Given the description of an element on the screen output the (x, y) to click on. 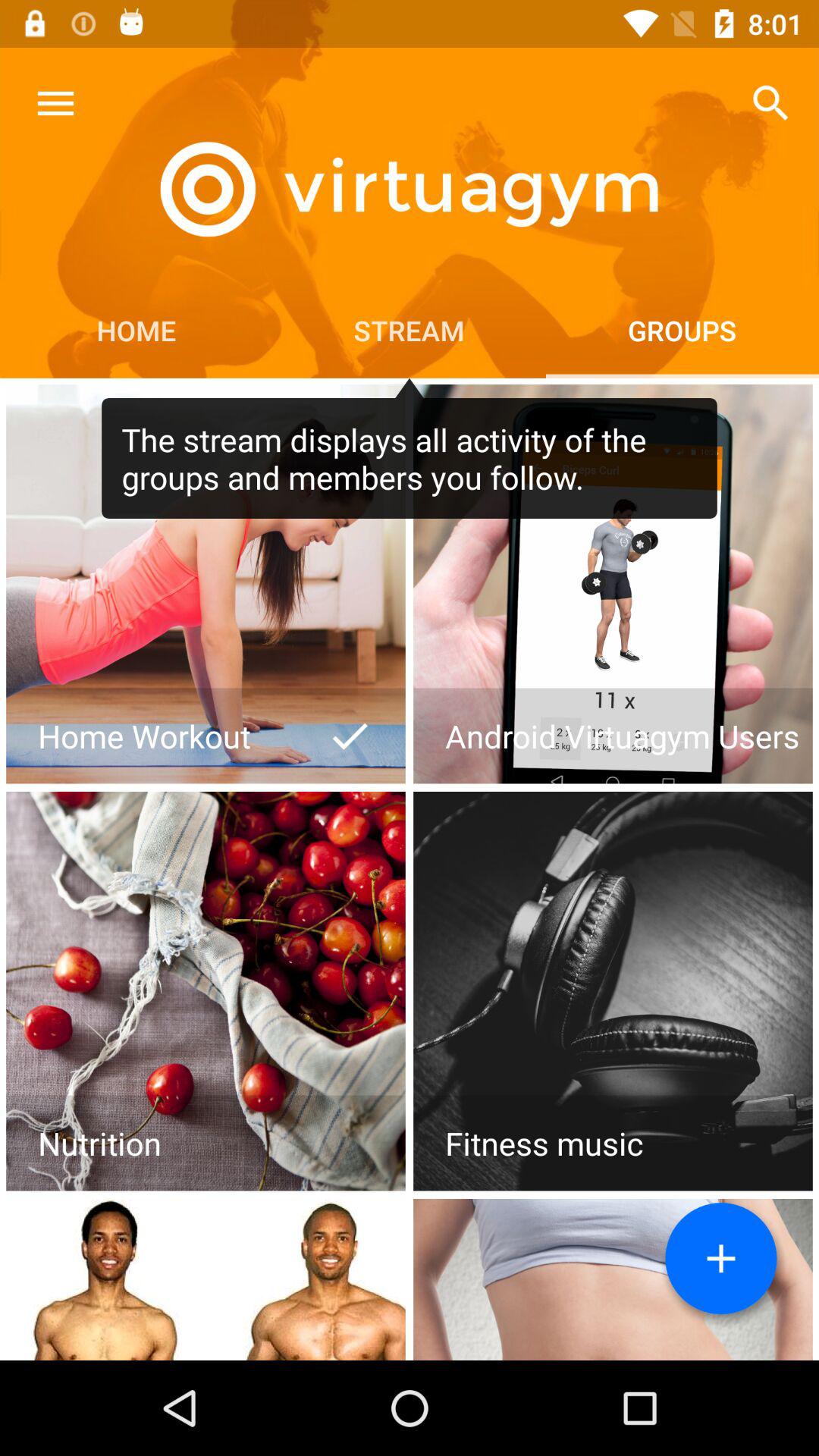
open up group (205, 583)
